Given the description of an element on the screen output the (x, y) to click on. 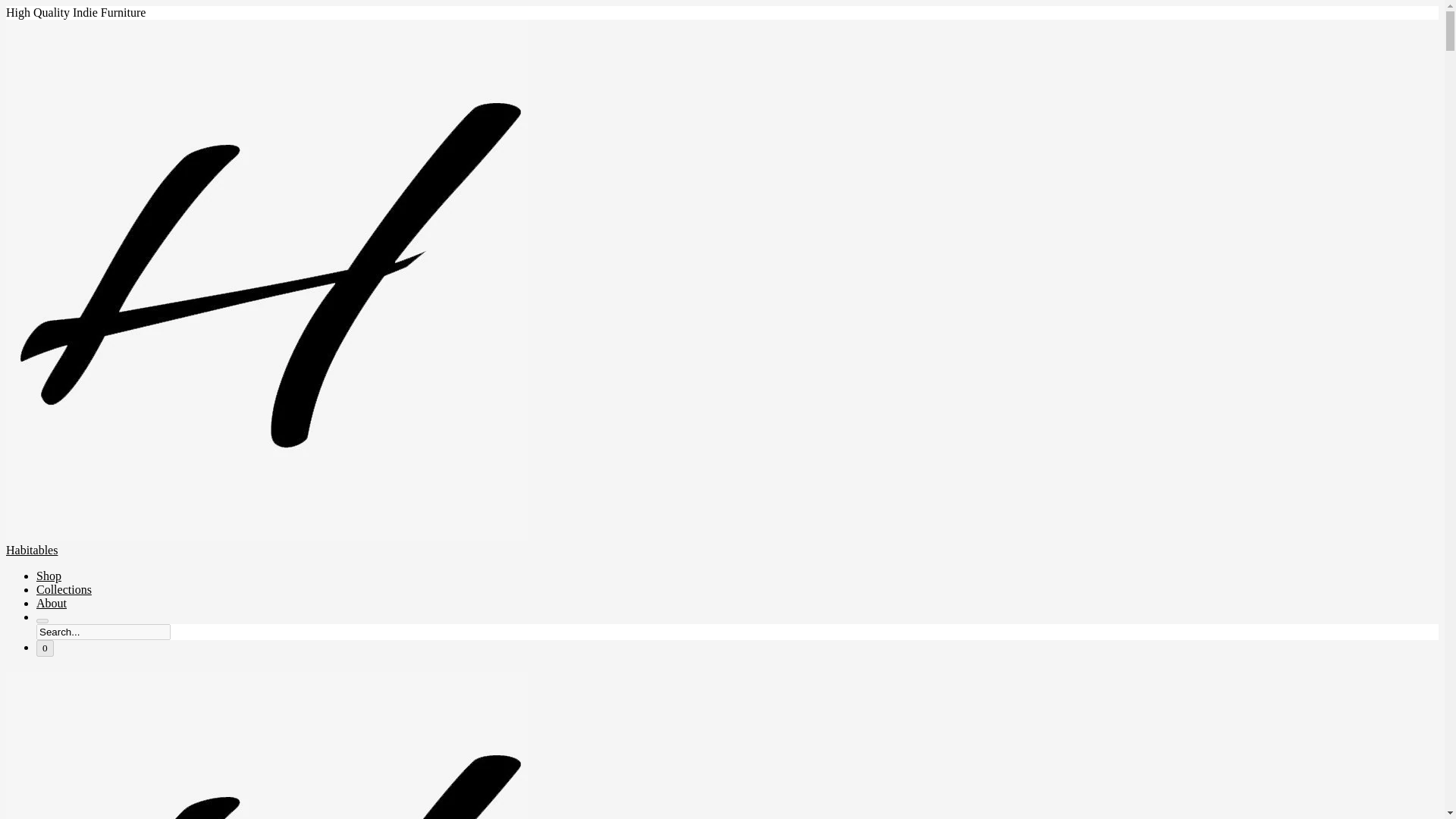
Collections (63, 589)
0 (44, 647)
About (51, 603)
Shop (48, 575)
